Given the description of an element on the screen output the (x, y) to click on. 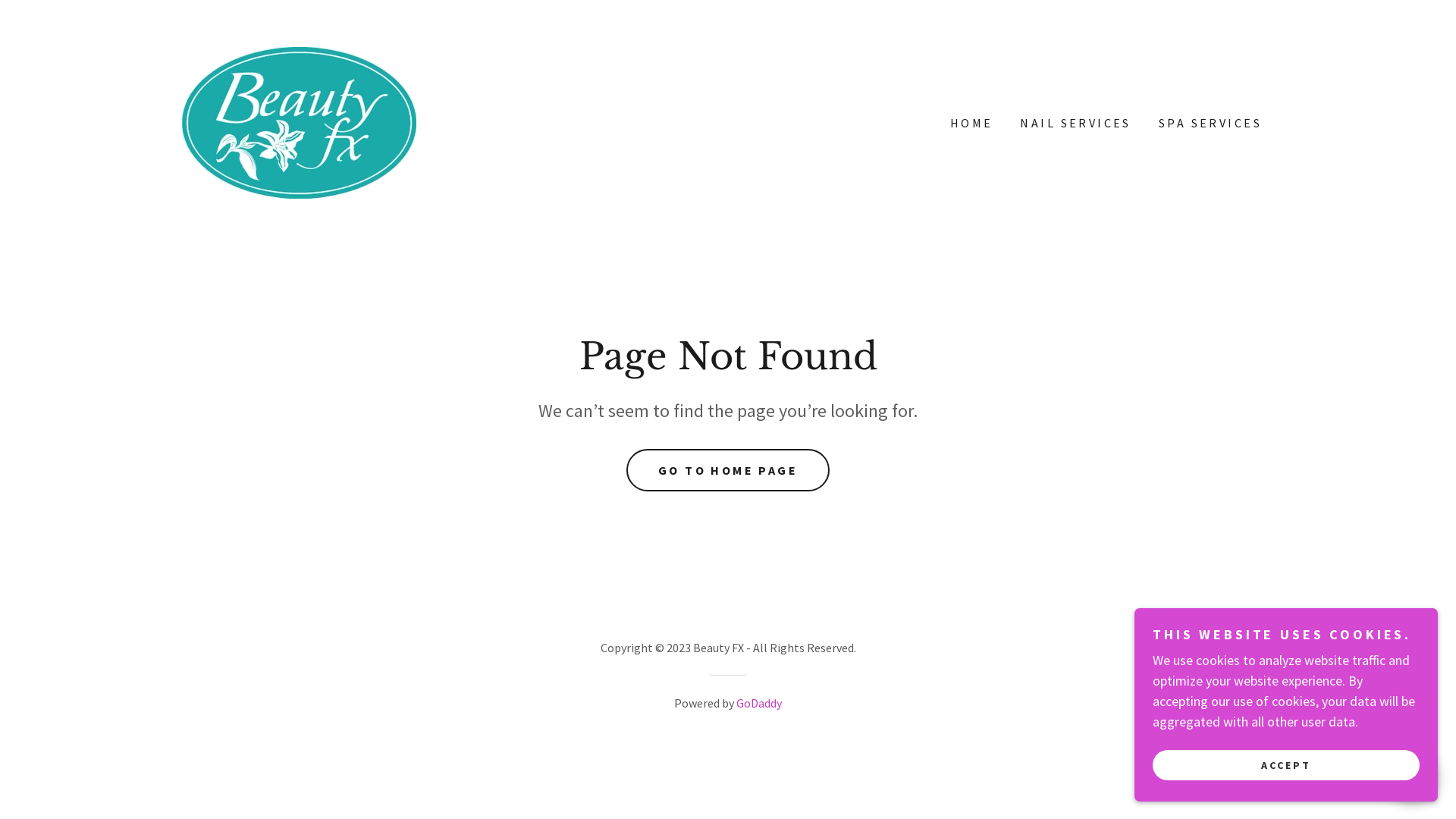
NAIL SERVICES Element type: text (1073, 122)
GO TO HOME PAGE Element type: text (727, 469)
GoDaddy Element type: text (758, 702)
ACCEPT Element type: text (1285, 764)
Beauty FX Element type: hover (299, 120)
SPA SERVICES Element type: text (1208, 122)
HOME Element type: text (969, 122)
